Given the description of an element on the screen output the (x, y) to click on. 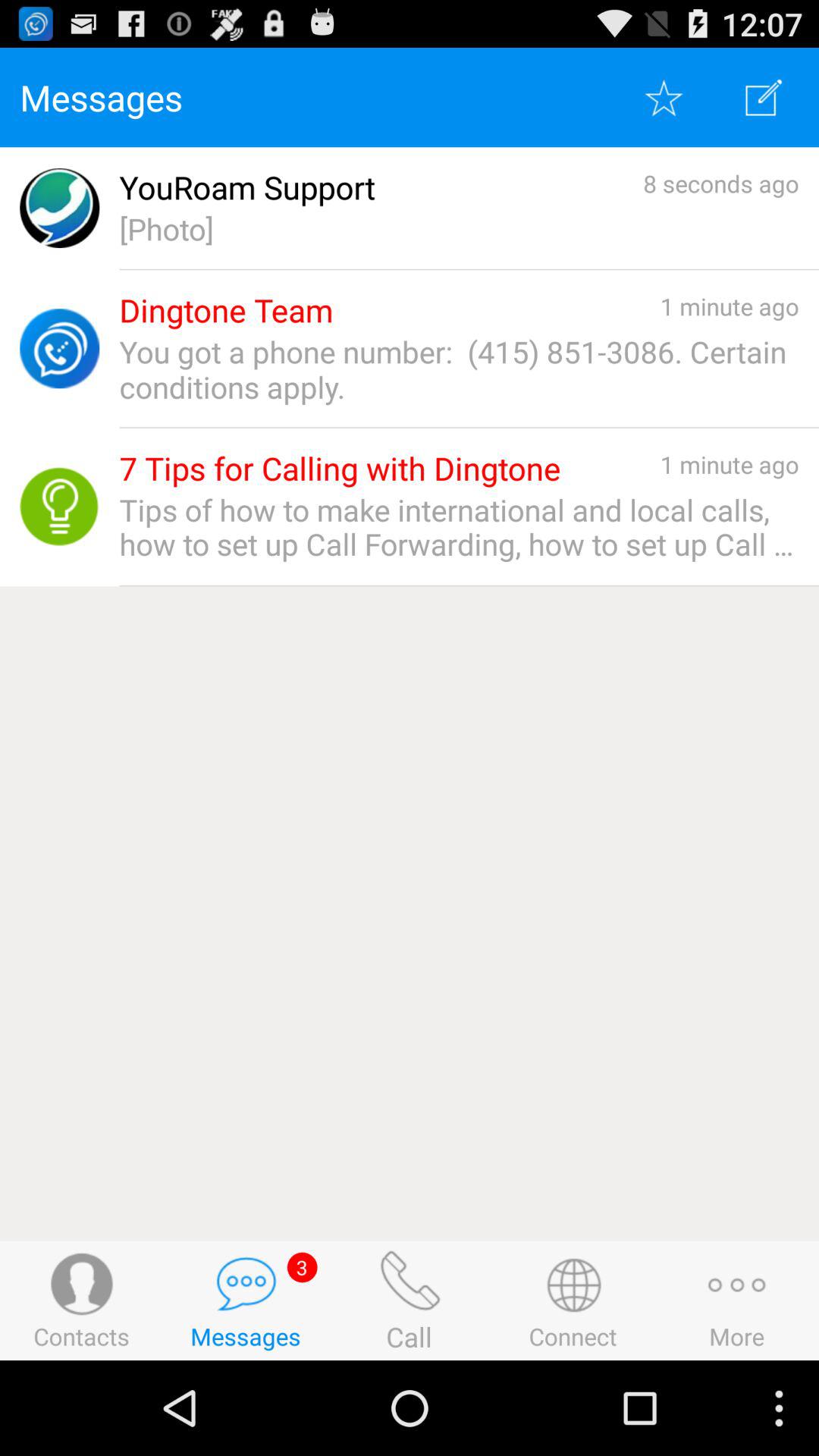
tap the app to the left of 8 seconds ago app (247, 187)
